Given the description of an element on the screen output the (x, y) to click on. 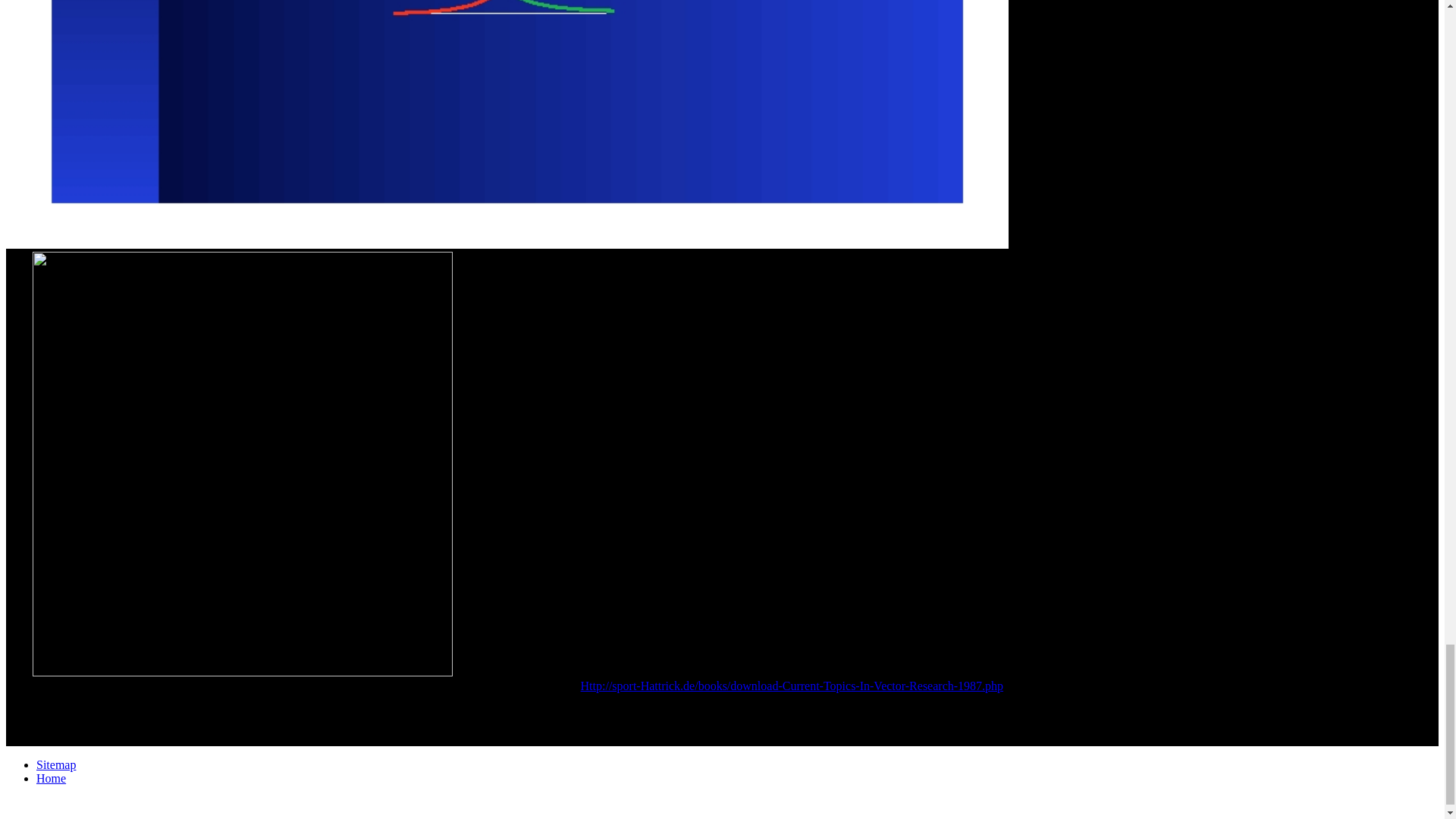
Home (50, 778)
Sitemap (55, 764)
